Given the description of an element on the screen output the (x, y) to click on. 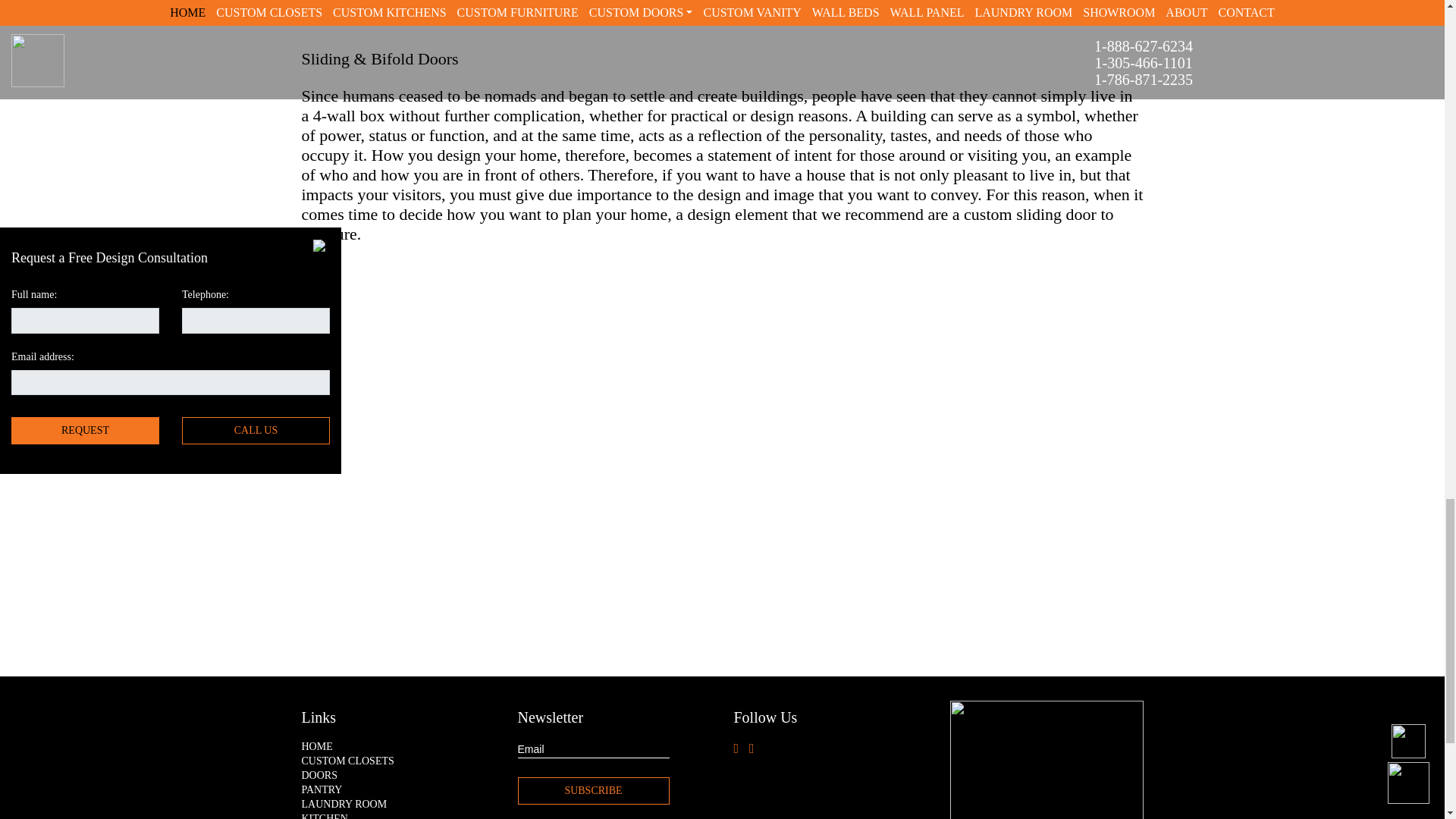
LAUNDRY ROOM (398, 804)
HOME (398, 747)
DOORS (398, 775)
PANTRY (398, 789)
KITCHEN (398, 816)
CUSTOM CLOSETS (398, 760)
SUBSCRIBE (592, 790)
